Given the description of an element on the screen output the (x, y) to click on. 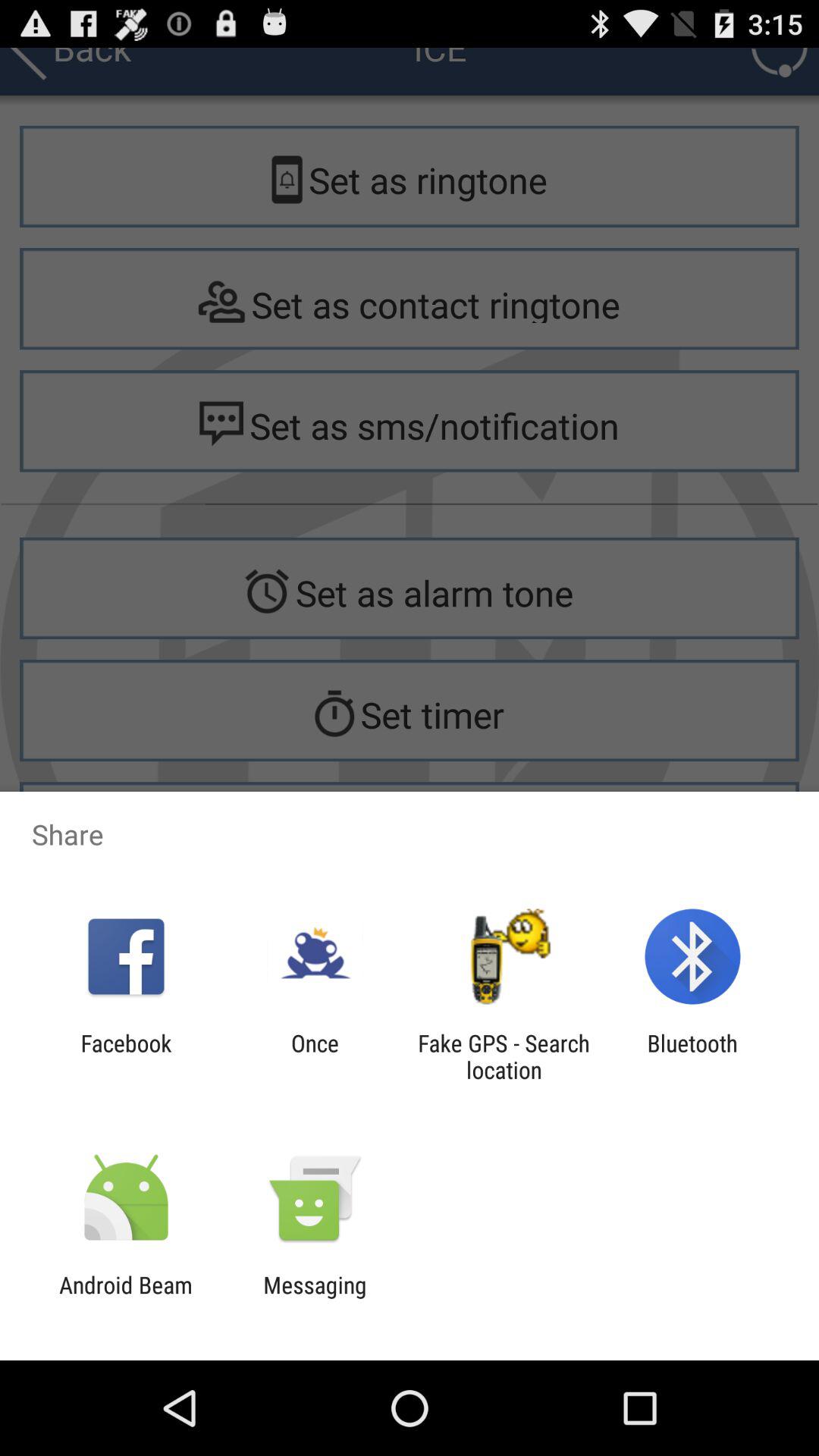
turn on app to the right of the facebook app (314, 1056)
